Given the description of an element on the screen output the (x, y) to click on. 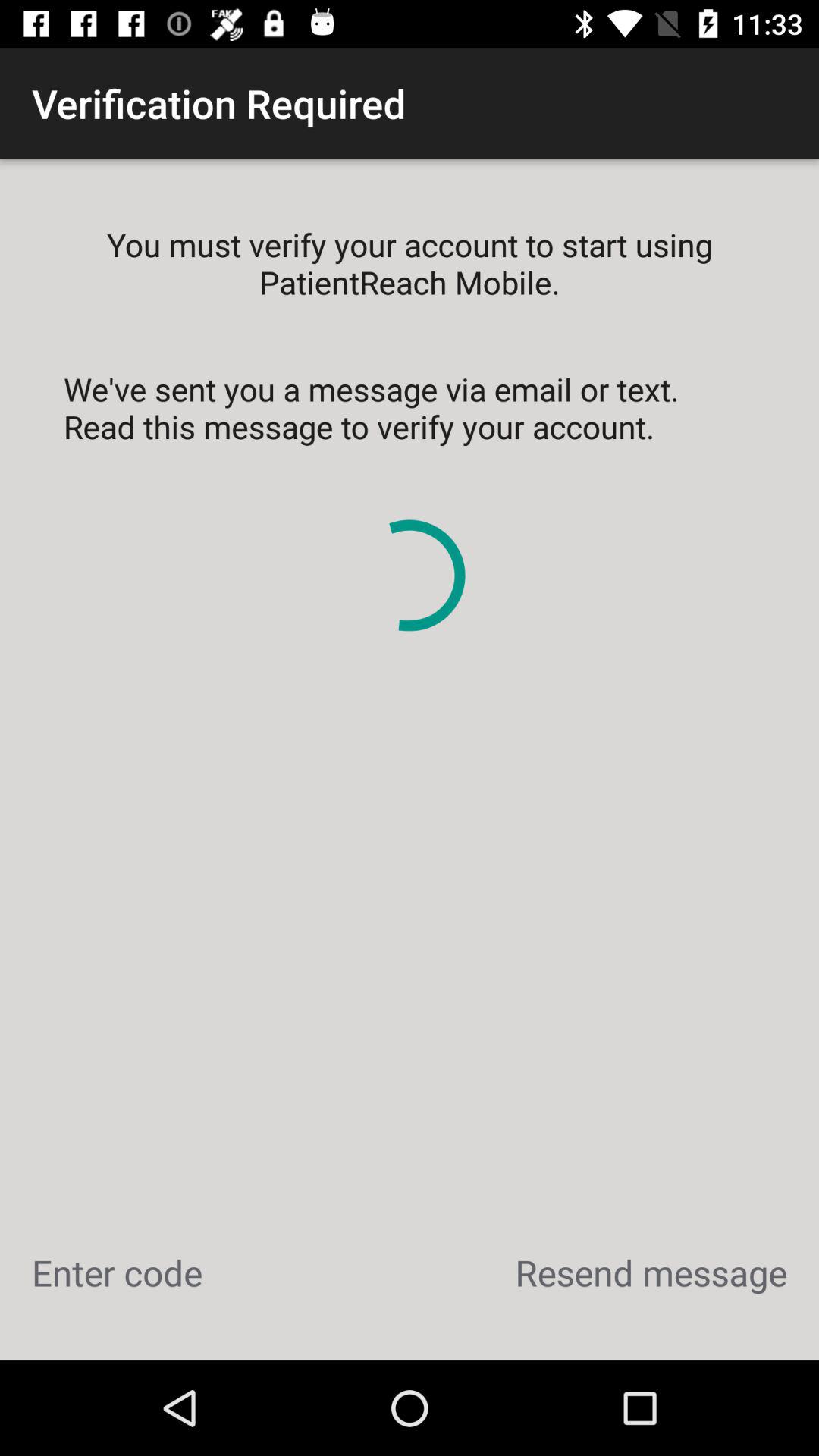
tap icon to the left of the resend message (116, 1272)
